Given the description of an element on the screen output the (x, y) to click on. 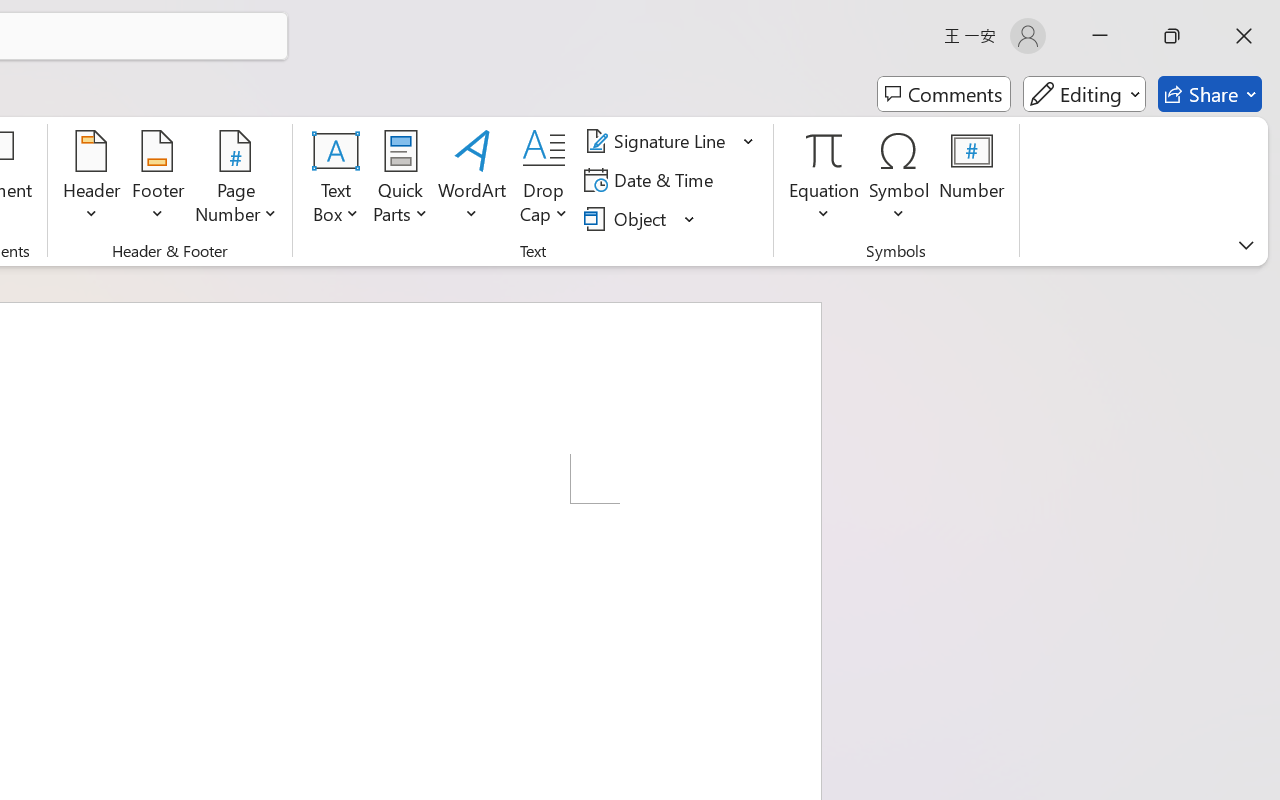
WordArt (472, 179)
Signature Line (669, 141)
Minimize (1099, 36)
Restore Down (1172, 36)
Page Number (236, 179)
More Options (823, 206)
Drop Cap (543, 179)
Number... (971, 179)
Date & Time... (651, 179)
